Given the description of an element on the screen output the (x, y) to click on. 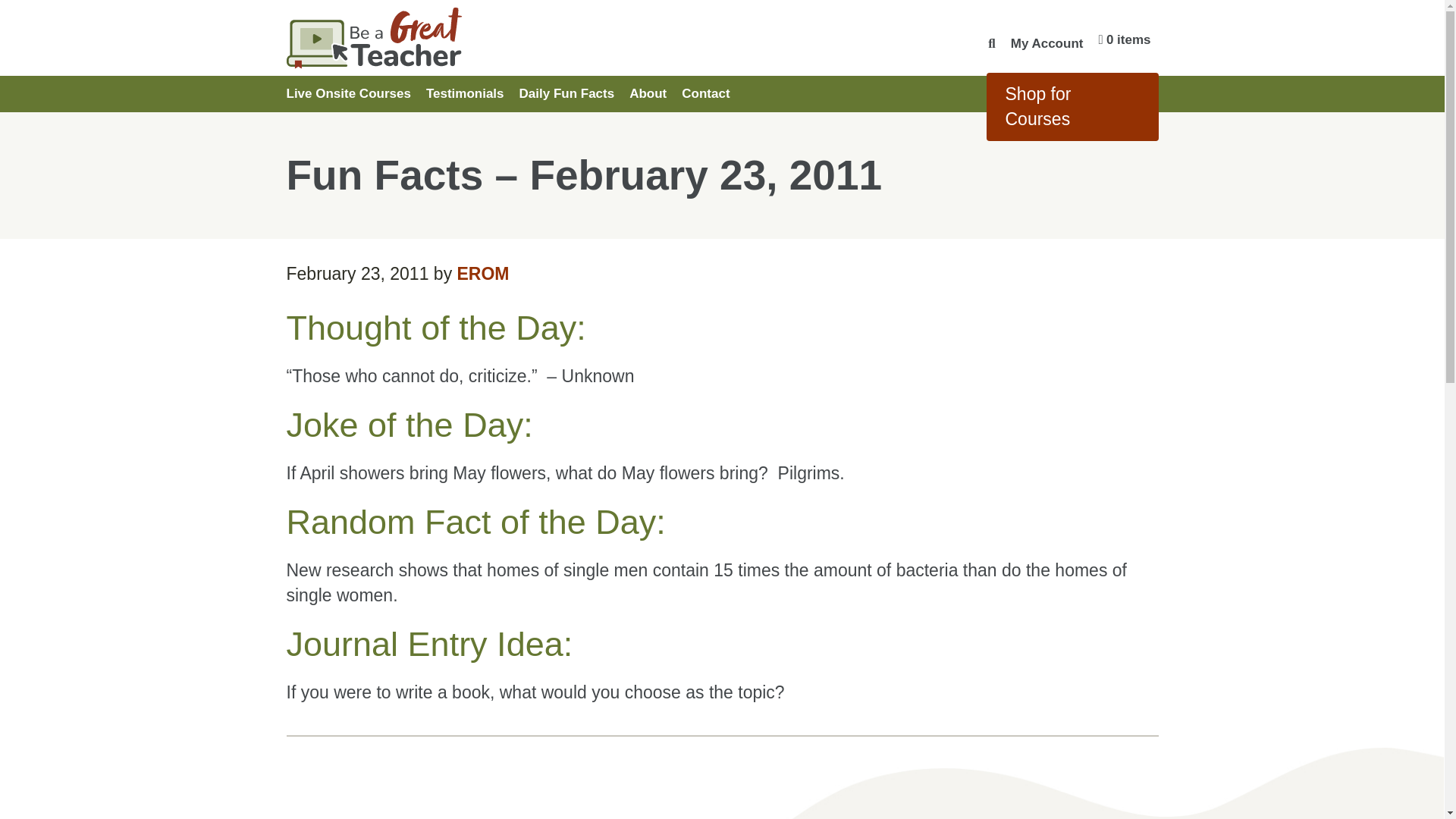
Contact (705, 93)
Shop for Courses (1071, 106)
EROM (483, 273)
Testimonials (465, 93)
About (647, 93)
Start shopping (1123, 39)
Be a Great Teacher (466, 38)
0 items (1123, 39)
Live Onsite Courses (352, 93)
My Account (1046, 42)
Daily Fun Facts (567, 93)
